Given the description of an element on the screen output the (x, y) to click on. 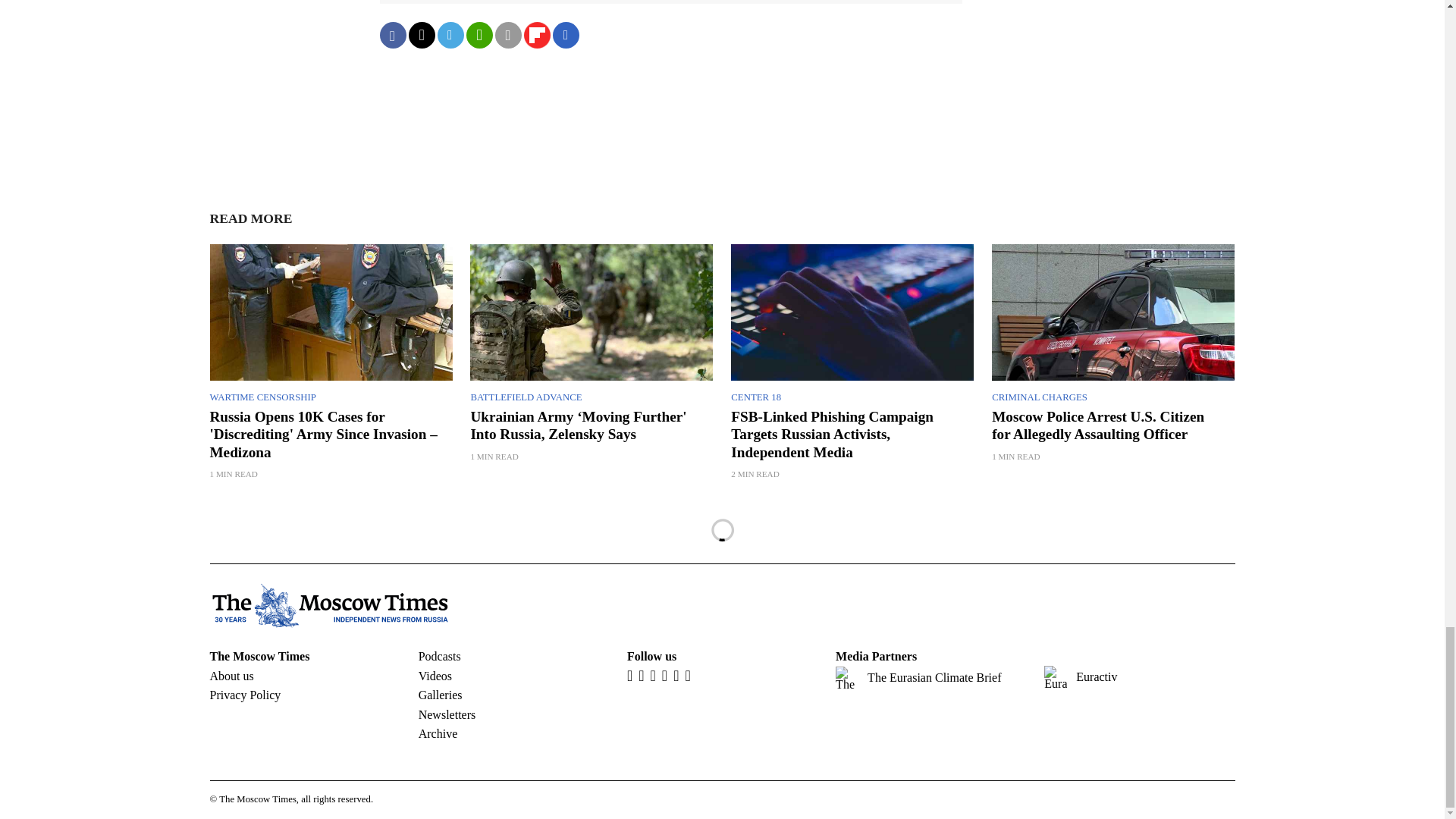
Share on Telegram (449, 35)
Share on Facebook (392, 35)
Share on Flipboard (536, 35)
Share on Twitter (420, 35)
